Given the description of an element on the screen output the (x, y) to click on. 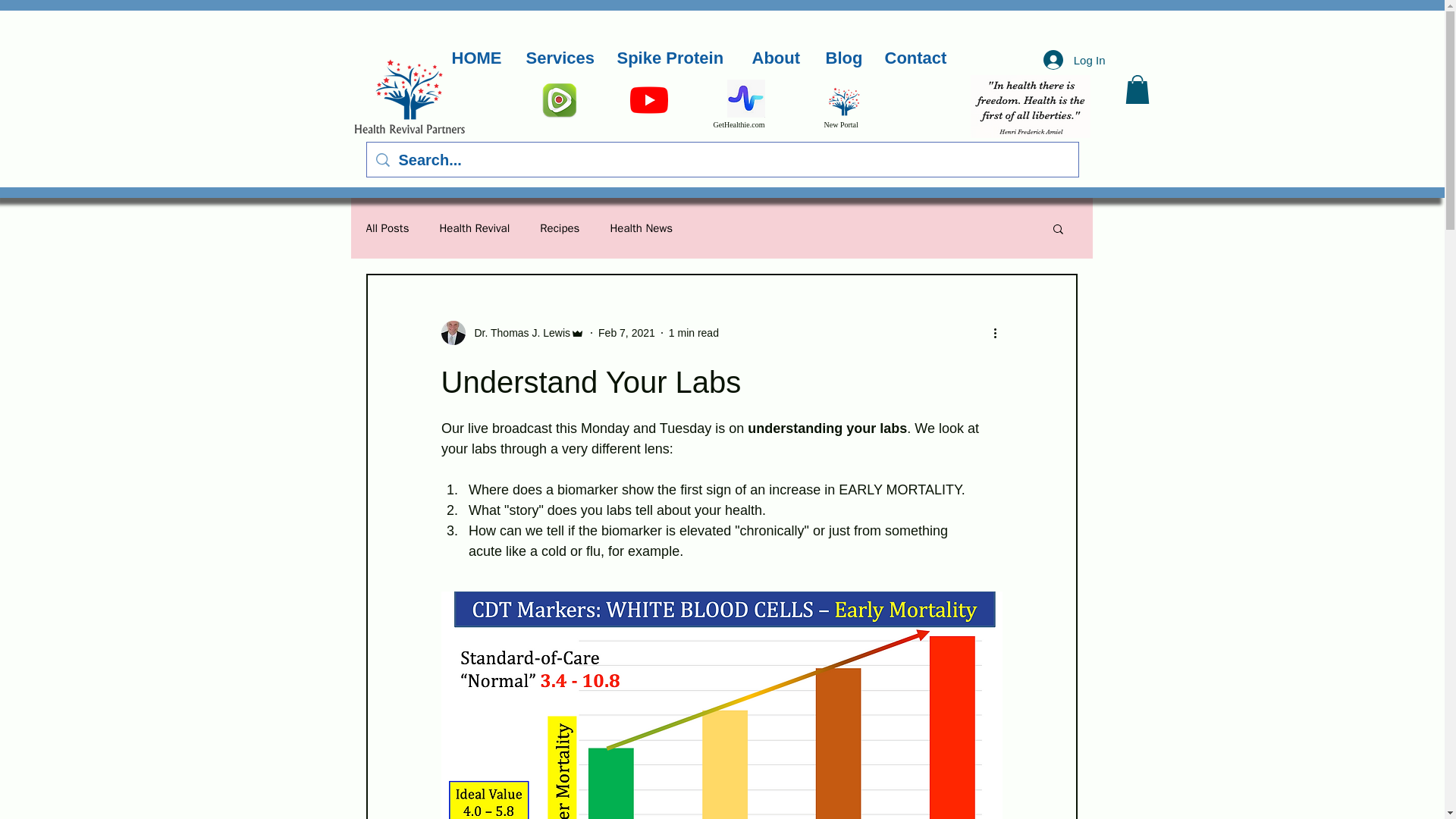
Log In (1074, 59)
Health News (641, 228)
Dr. Thomas J. Lewis (517, 333)
Health Revival (474, 228)
Dr. Thomas J. Lewis (513, 332)
Blog (843, 57)
Recipes (559, 228)
All Posts (387, 228)
Spike Protein (672, 57)
HOME (476, 57)
1 min read (693, 332)
Feb 7, 2021 (626, 332)
Contact (916, 57)
